Given the description of an element on the screen output the (x, y) to click on. 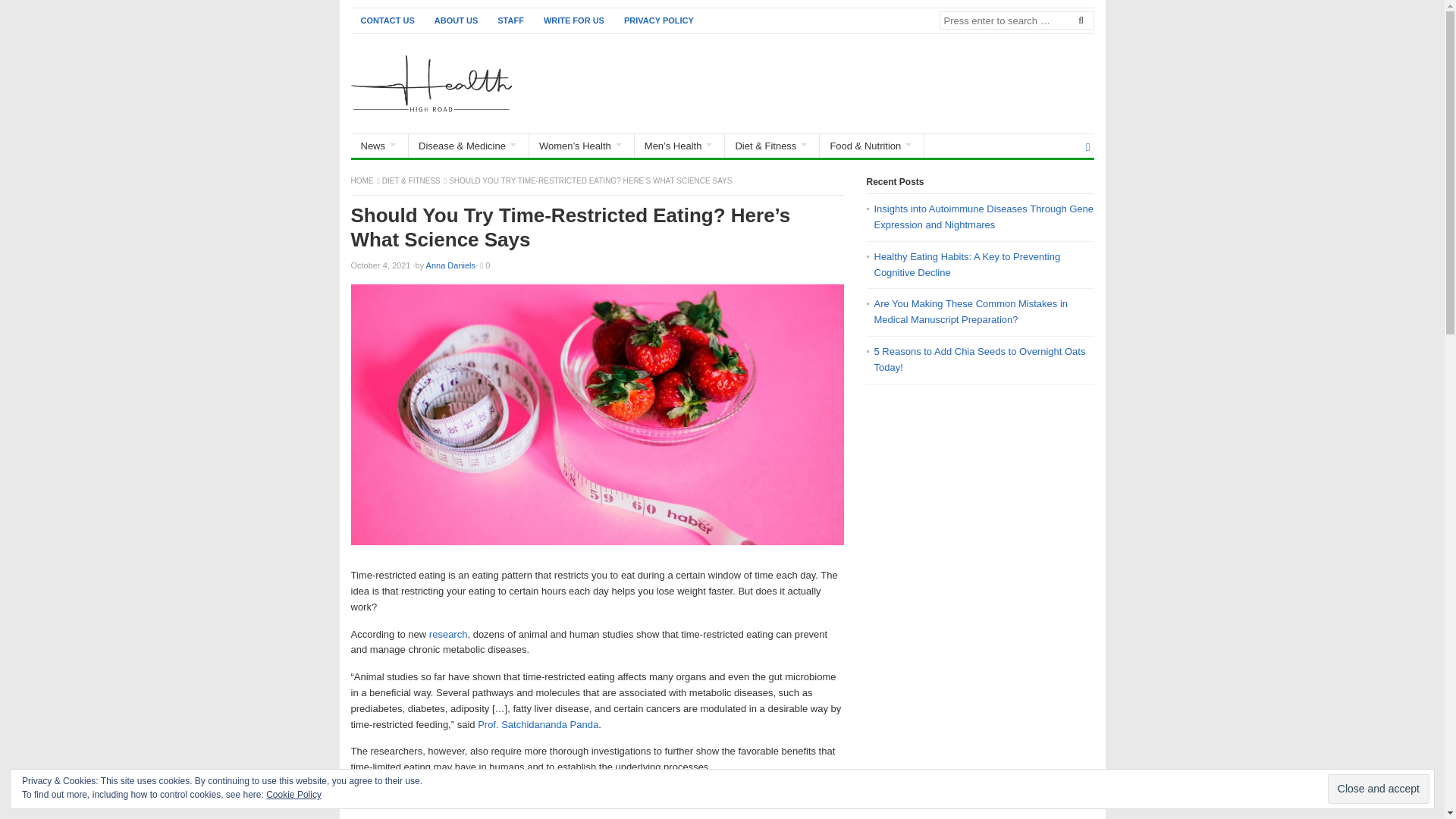
Health Highroad (362, 180)
PRIVACY POLICY (658, 20)
CONTACT US (386, 20)
RSS (1087, 146)
STAFF (510, 20)
WRITE FOR US (574, 20)
Search for: (1016, 20)
Close and accept (1378, 788)
ABOUT US (456, 20)
